Given the description of an element on the screen output the (x, y) to click on. 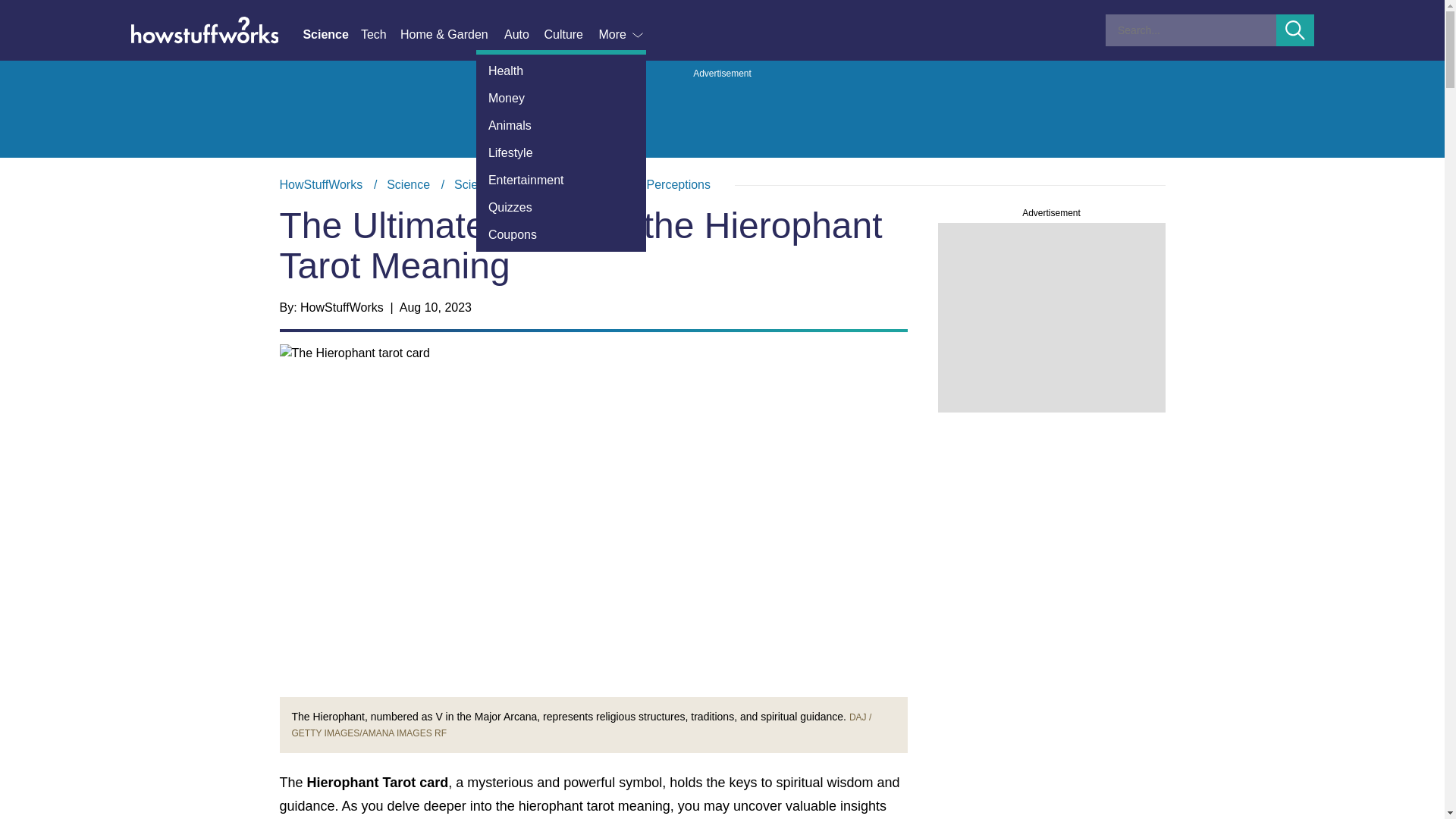
Tech (380, 34)
HowStuffWorks (320, 184)
Coupons (561, 234)
Science (330, 34)
More (621, 34)
Entertainment (561, 180)
Lifestyle (561, 153)
Money (561, 98)
Auto (523, 34)
